Given the description of an element on the screen output the (x, y) to click on. 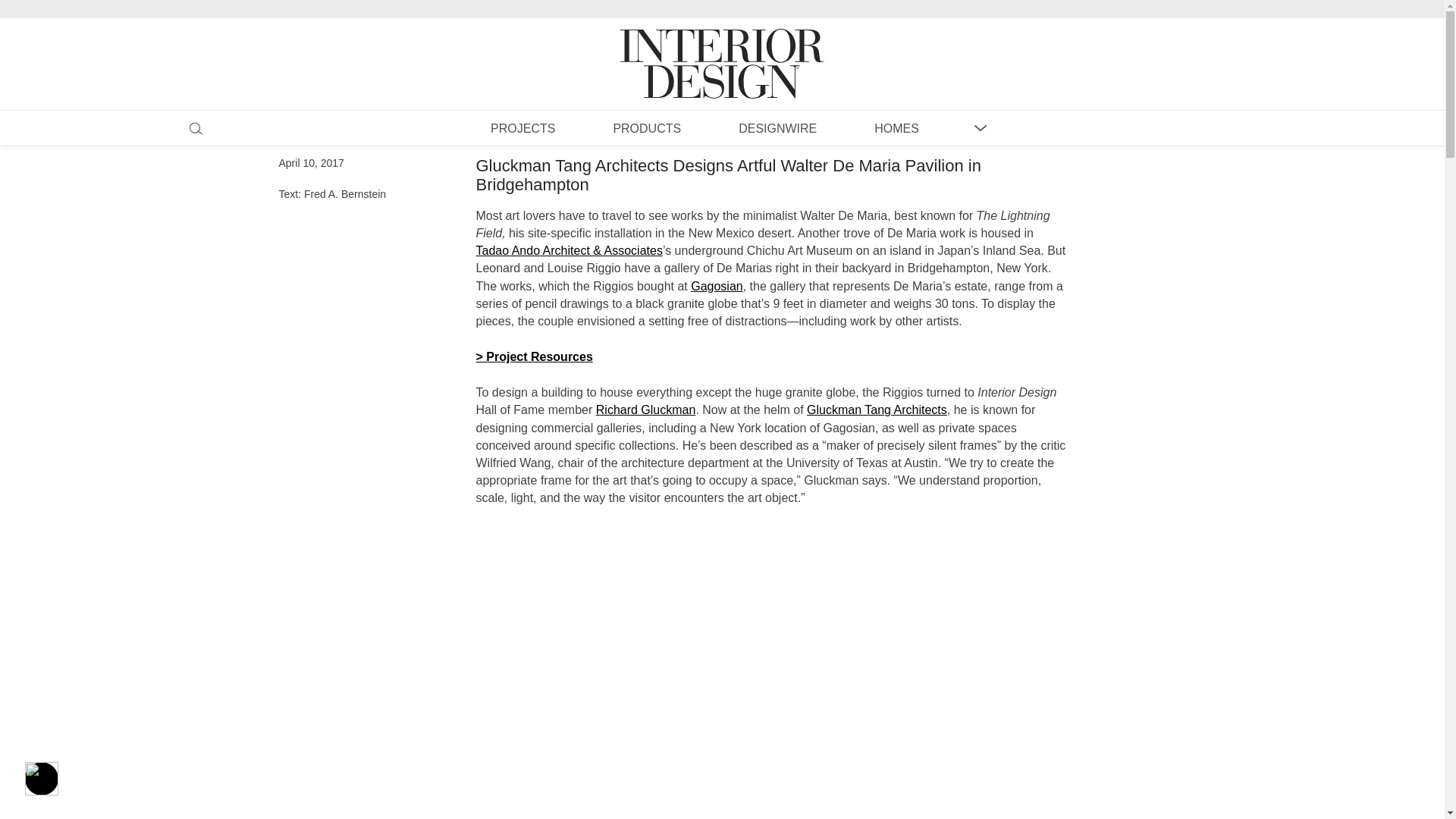
HOMES (896, 127)
PROJECTS (522, 127)
Gagosian (716, 286)
Accessibility Menu (41, 778)
DESIGNWIRE (777, 127)
Gluckman Tang Architects (876, 409)
Richard Gluckman (645, 409)
Interior Design (721, 49)
PRODUCTS (646, 127)
